Given the description of an element on the screen output the (x, y) to click on. 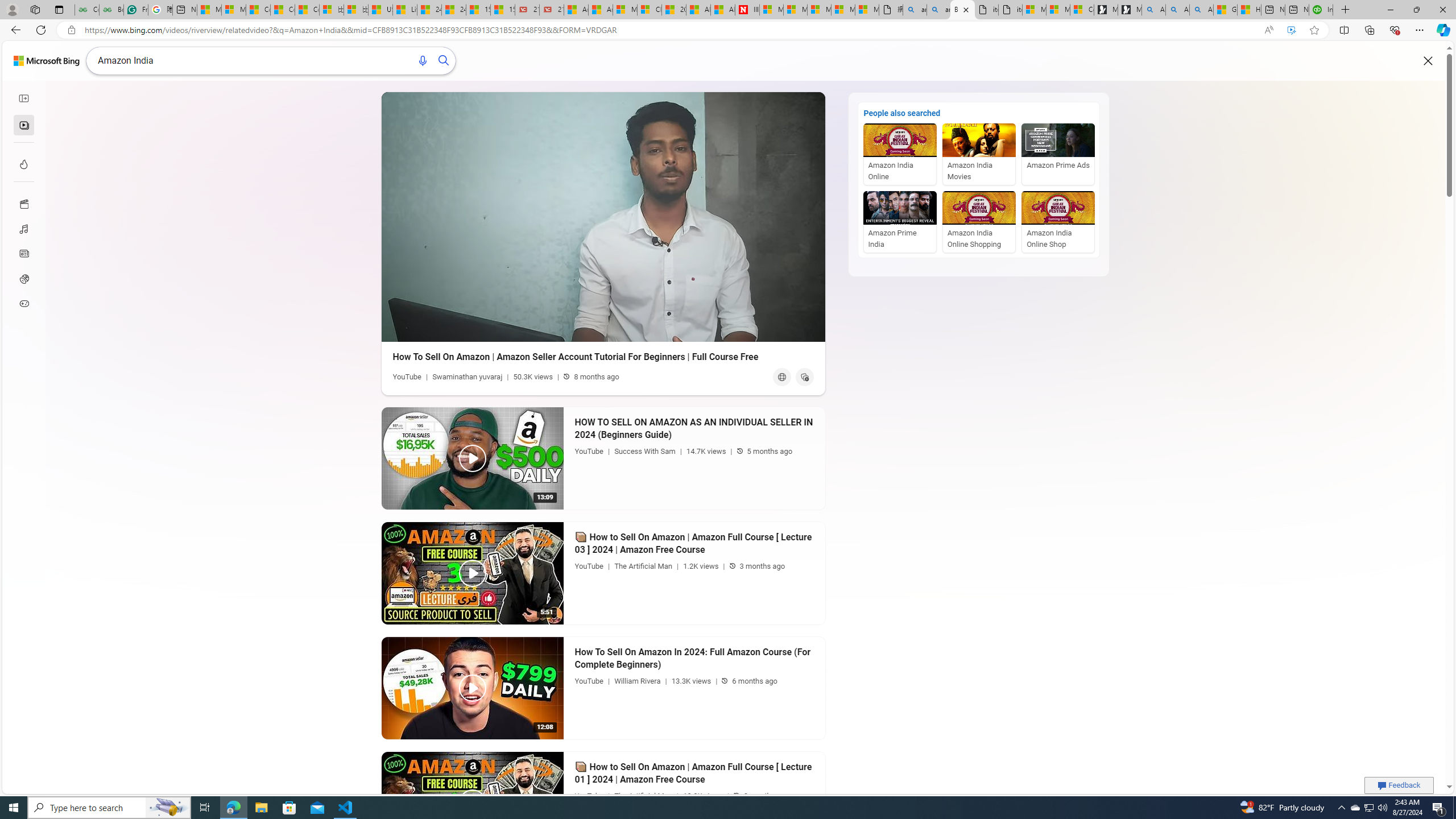
Search using voice (417, 60)
USA TODAY - MSN (380, 9)
Microsoft Start Gaming (1129, 9)
Class: ytp-subtitles-button-icon (723, 330)
Music (23, 228)
How to Use a TV as a Computer Monitor (1248, 9)
